Given the description of an element on the screen output the (x, y) to click on. 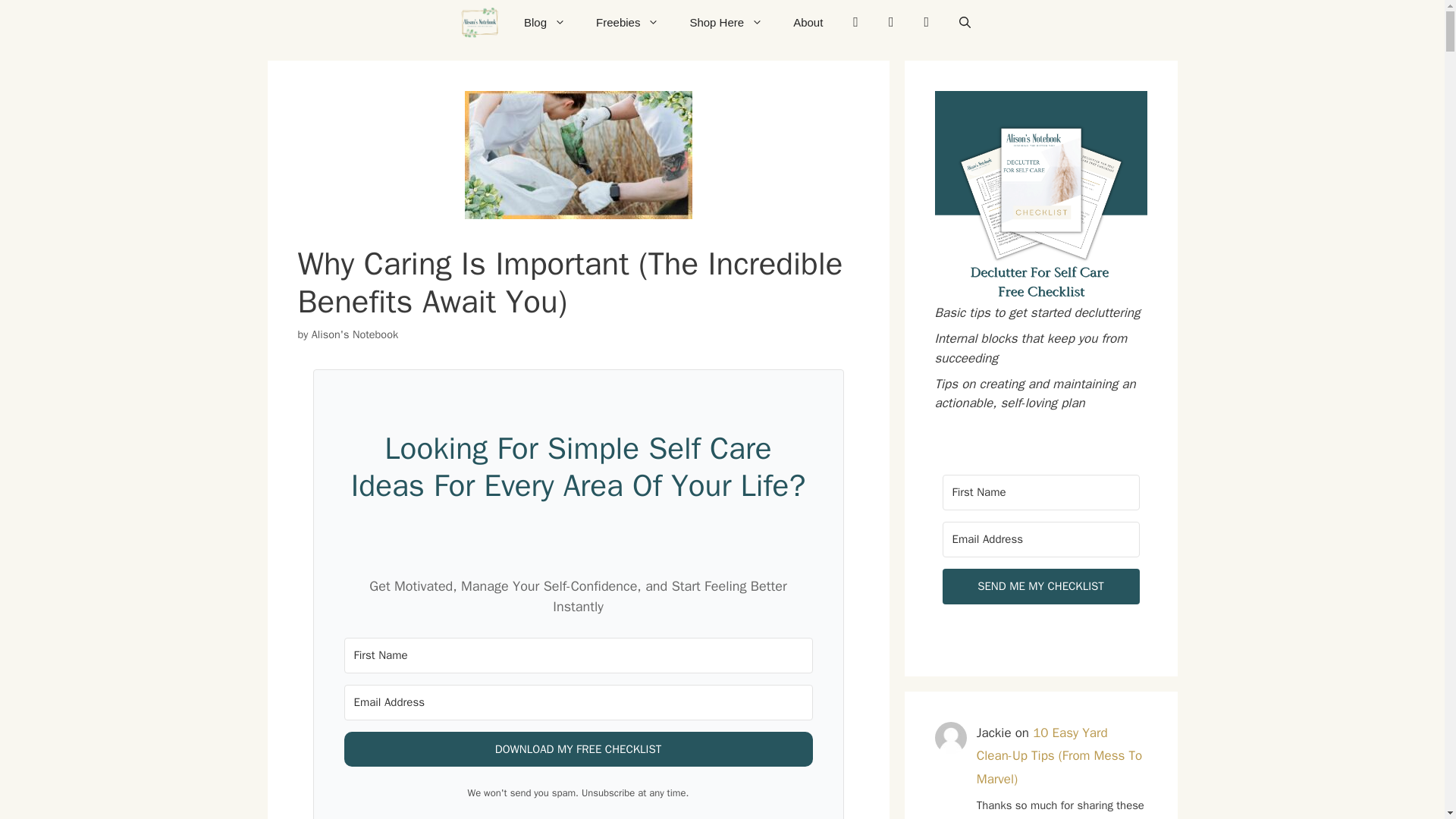
Alison's Notebook (354, 334)
DOWNLOAD MY FREE CHECKLIST (577, 749)
About (807, 22)
Alison's Notebook (479, 22)
Freebies (627, 22)
Blog (544, 22)
Shop Here (725, 22)
View all posts by Alison's Notebook (354, 334)
